Given the description of an element on the screen output the (x, y) to click on. 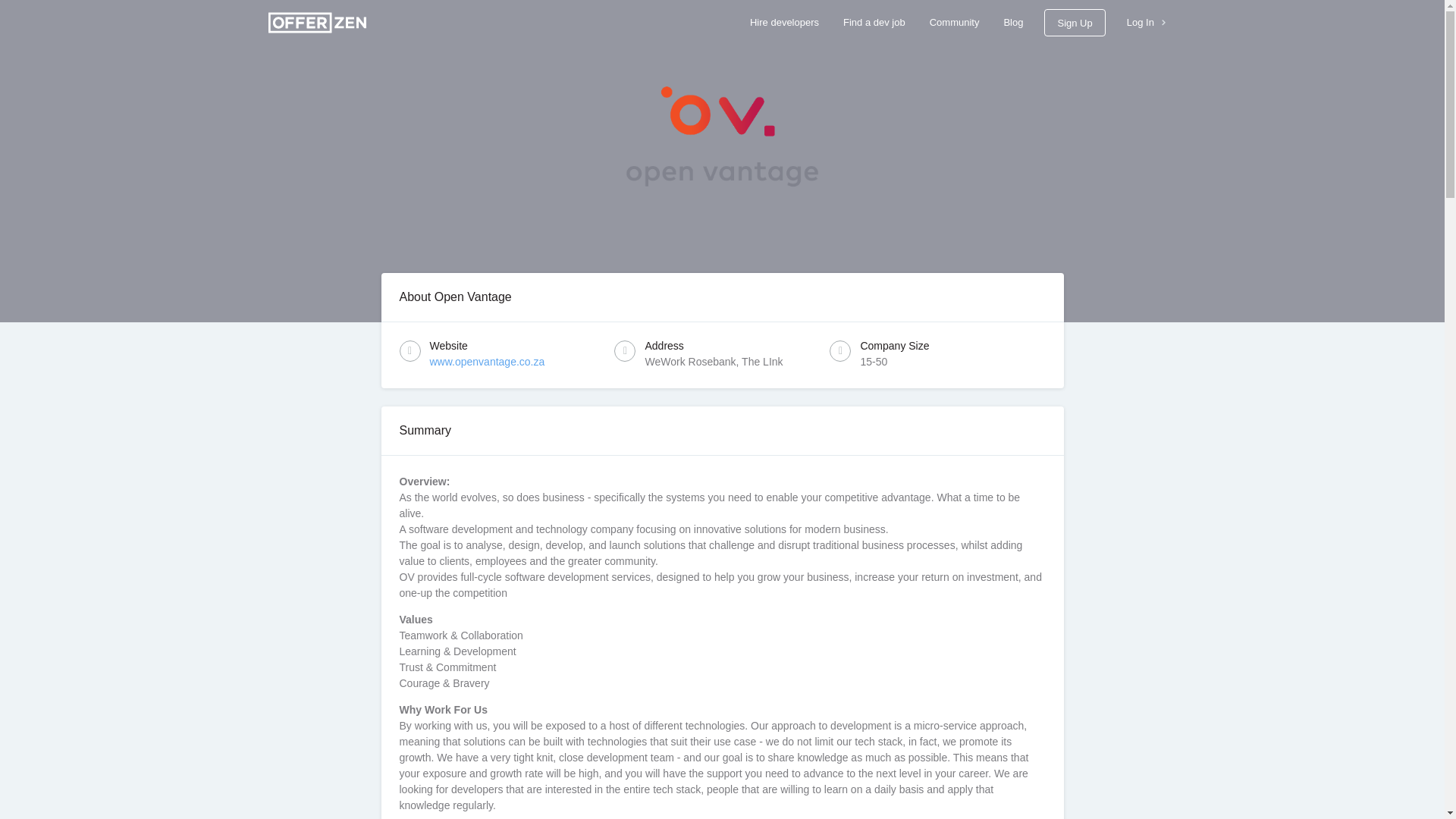
Community (954, 22)
Find a dev job (874, 22)
Sign Up (1074, 22)
Log In (1146, 22)
www.openvantage.co.za (486, 361)
Blog (1013, 22)
Hire developers (784, 22)
